Given the description of an element on the screen output the (x, y) to click on. 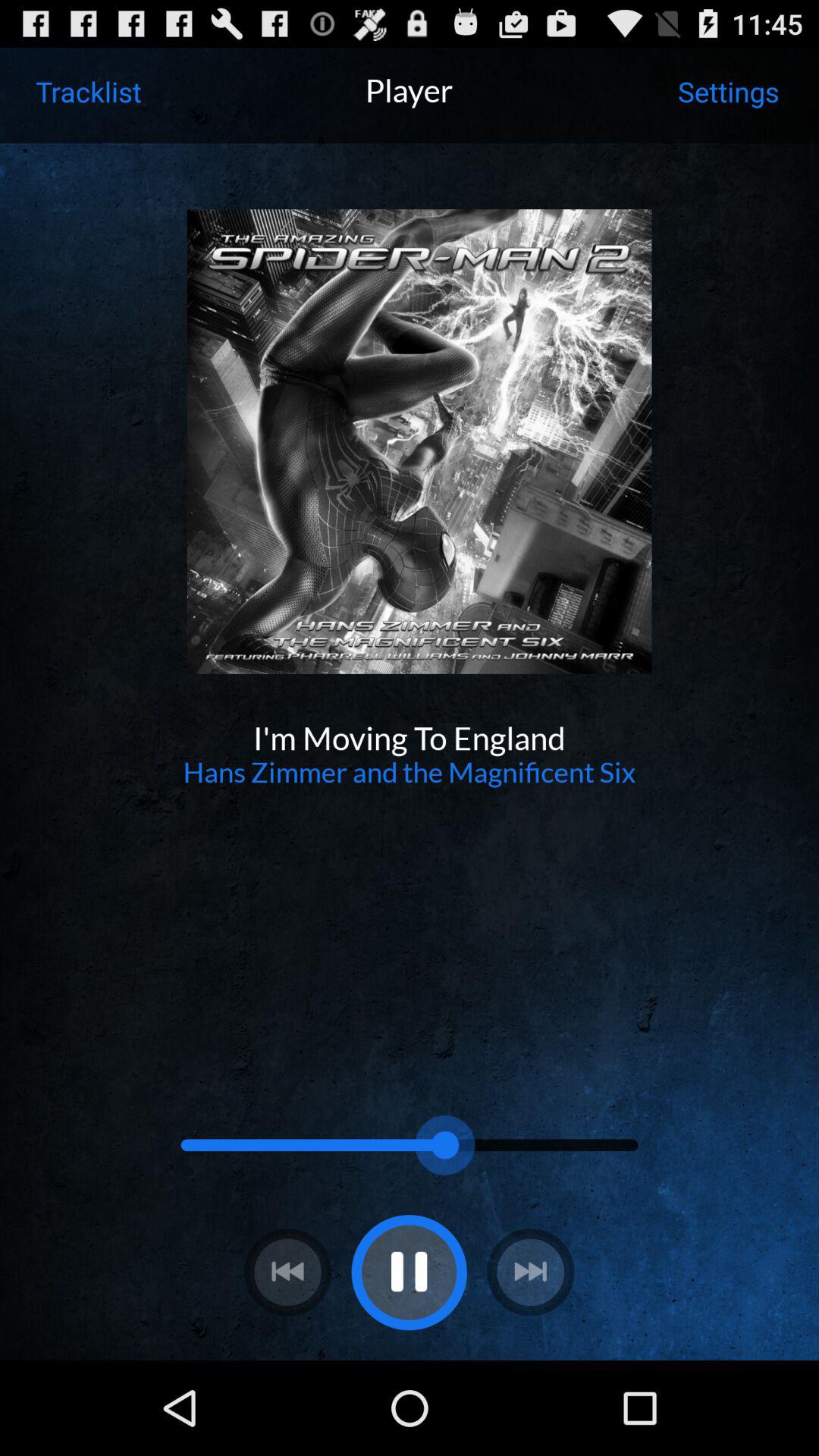
previous (287, 1272)
